Given the description of an element on the screen output the (x, y) to click on. 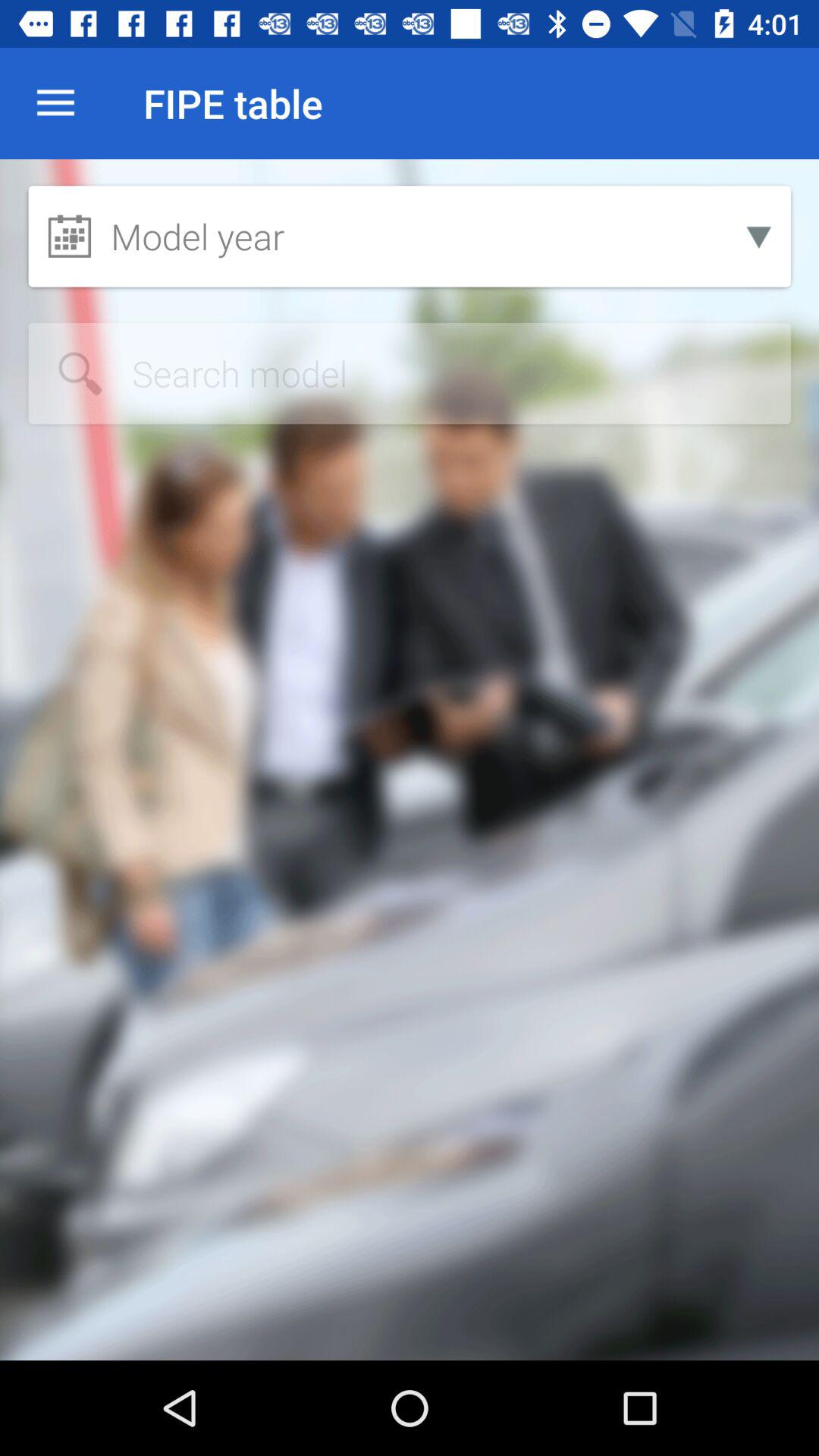
search model (409, 373)
